Given the description of an element on the screen output the (x, y) to click on. 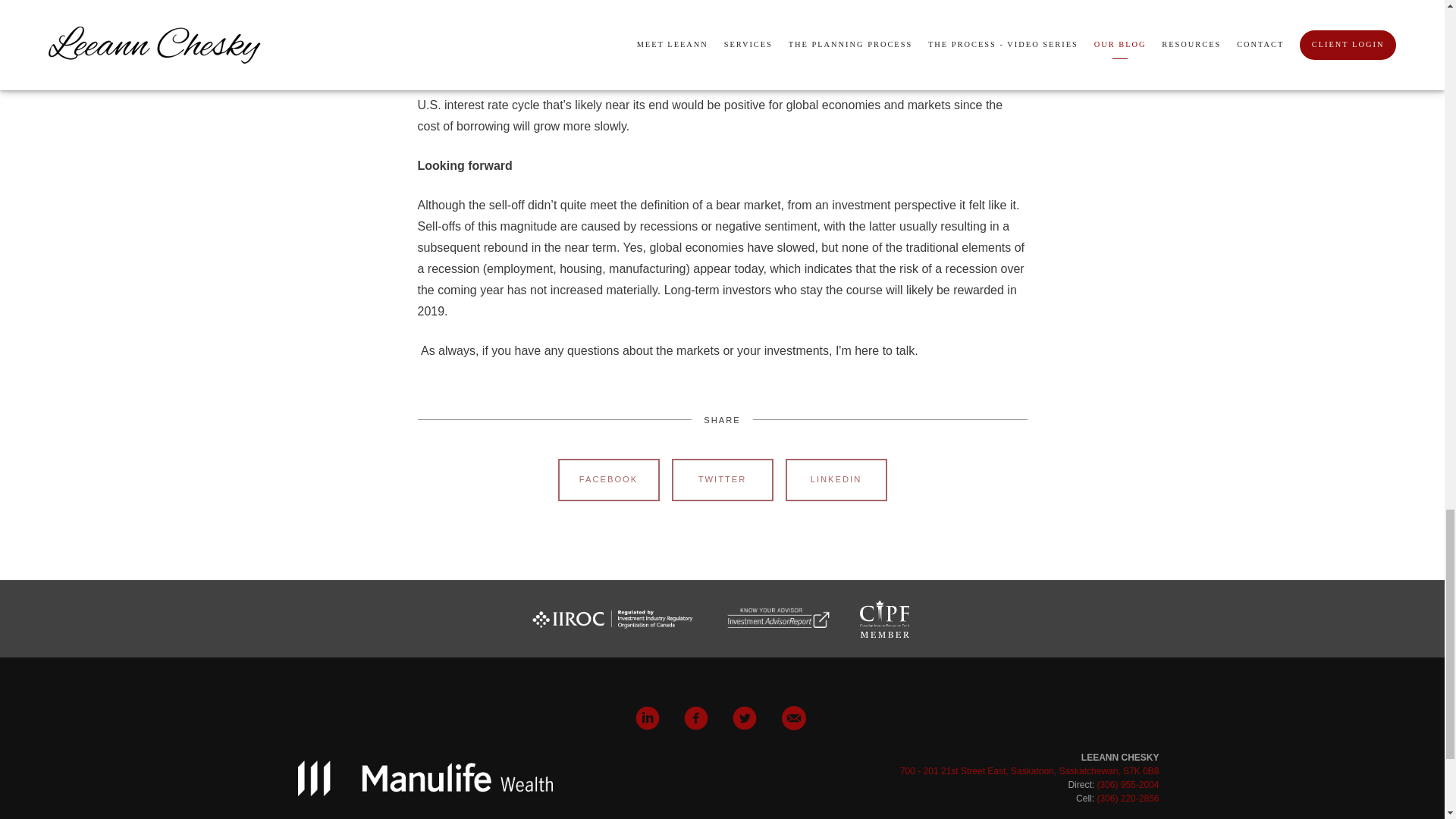
TWITTER (722, 479)
700 - 201 21st Street East, Saskatoon, Saskatchewan, S7K 0B8 (1028, 770)
FACEBOOK (608, 479)
LINKEDIN (836, 479)
